Given the description of an element on the screen output the (x, y) to click on. 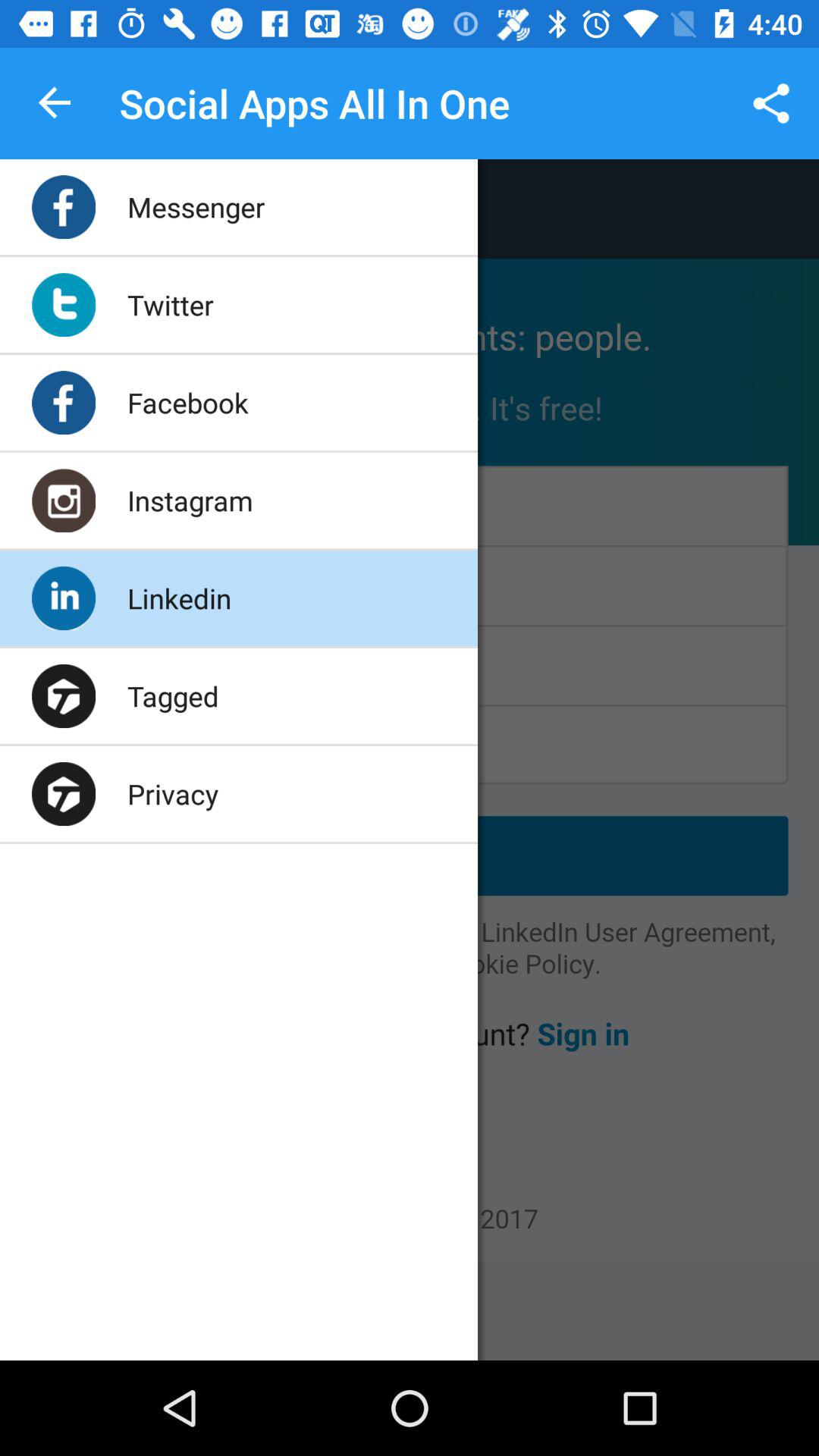
press the twitter icon (170, 304)
